Given the description of an element on the screen output the (x, y) to click on. 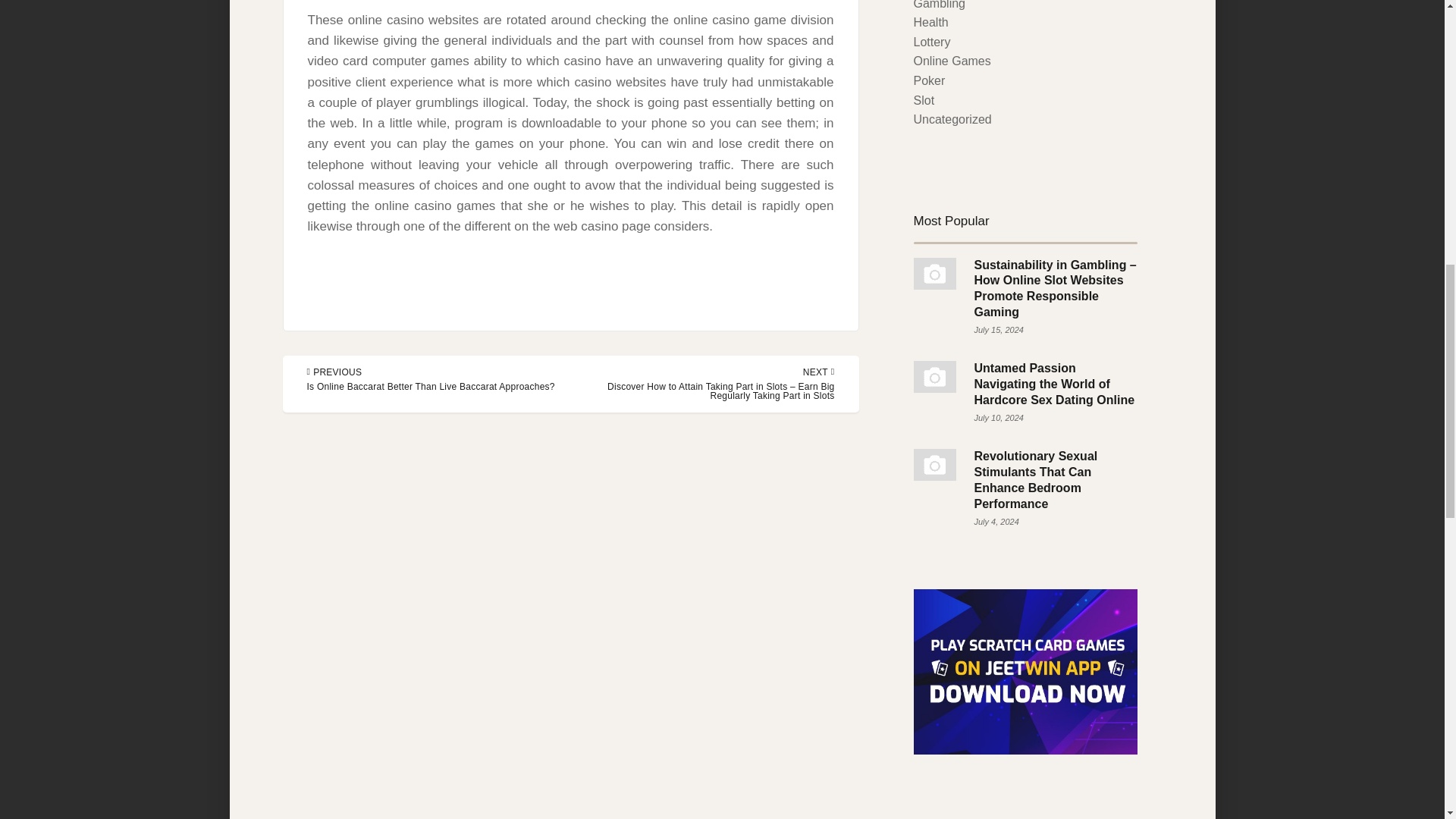
Health (929, 21)
Slot (923, 100)
Lottery (931, 42)
Online Games (951, 60)
Uncategorized (951, 119)
Poker (928, 80)
Gambling (937, 4)
